Given the description of an element on the screen output the (x, y) to click on. 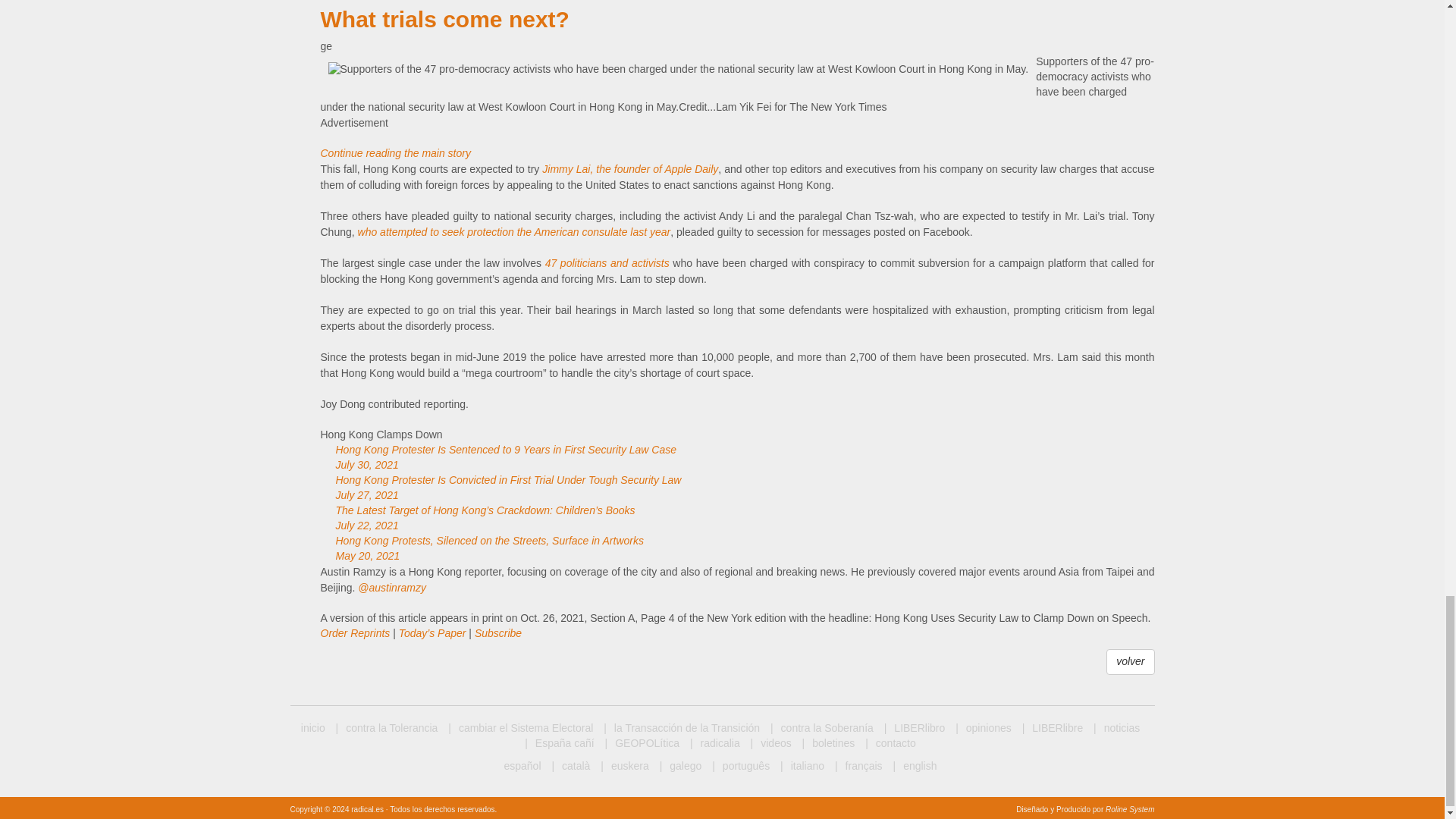
galego (680, 766)
euskal (623, 766)
contacto (889, 743)
italiano (802, 766)
english (915, 766)
RADICAL (312, 728)
